Given the description of an element on the screen output the (x, y) to click on. 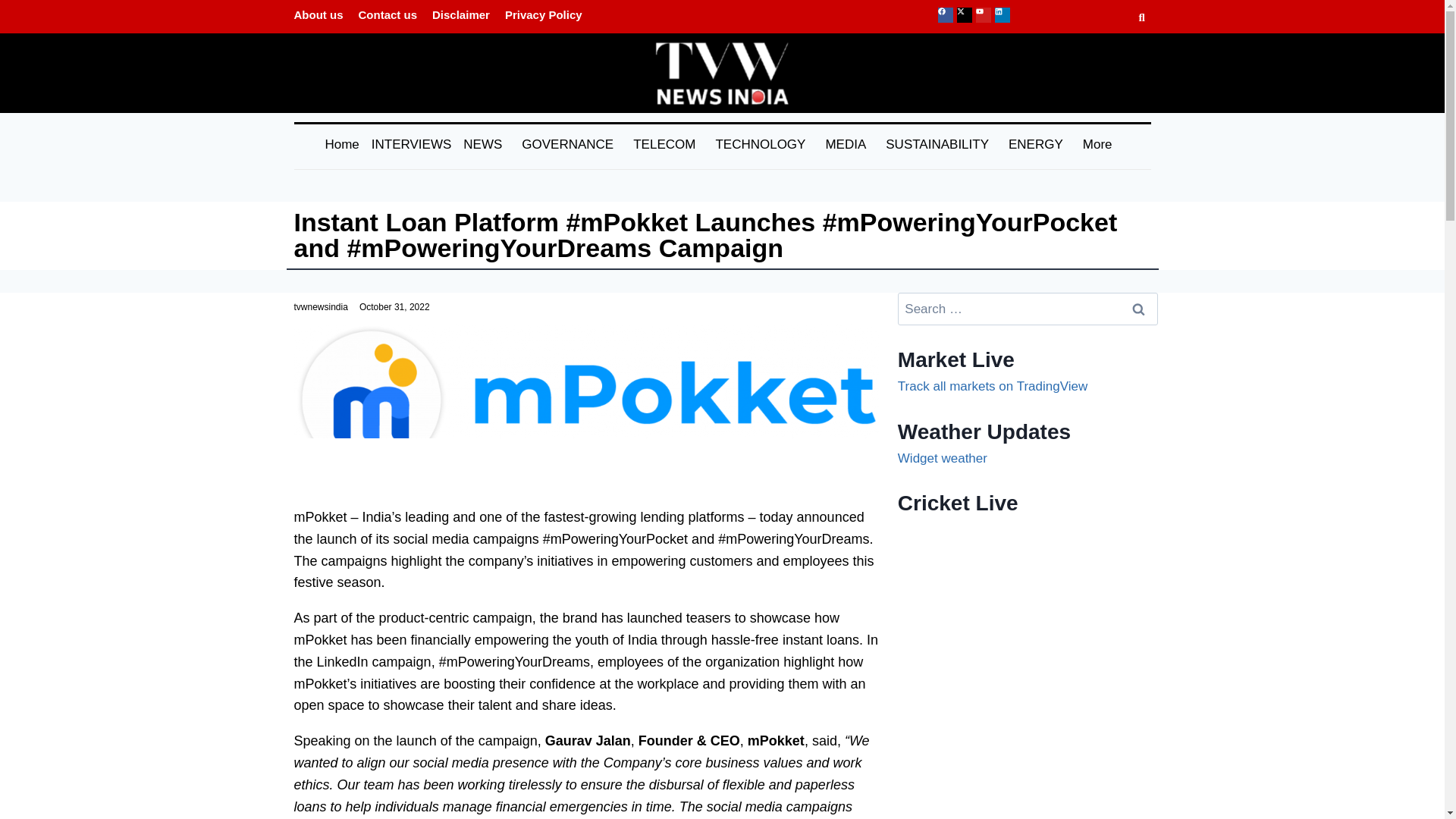
MEDIA (849, 144)
TELECOM (667, 144)
Privacy Policy (543, 14)
Search (1138, 308)
Contact us (387, 14)
GOVERNANCE (571, 144)
Home (341, 144)
NEWS (486, 144)
INTERVIEWS (410, 144)
TECHNOLOGY (764, 144)
